Given the description of an element on the screen output the (x, y) to click on. 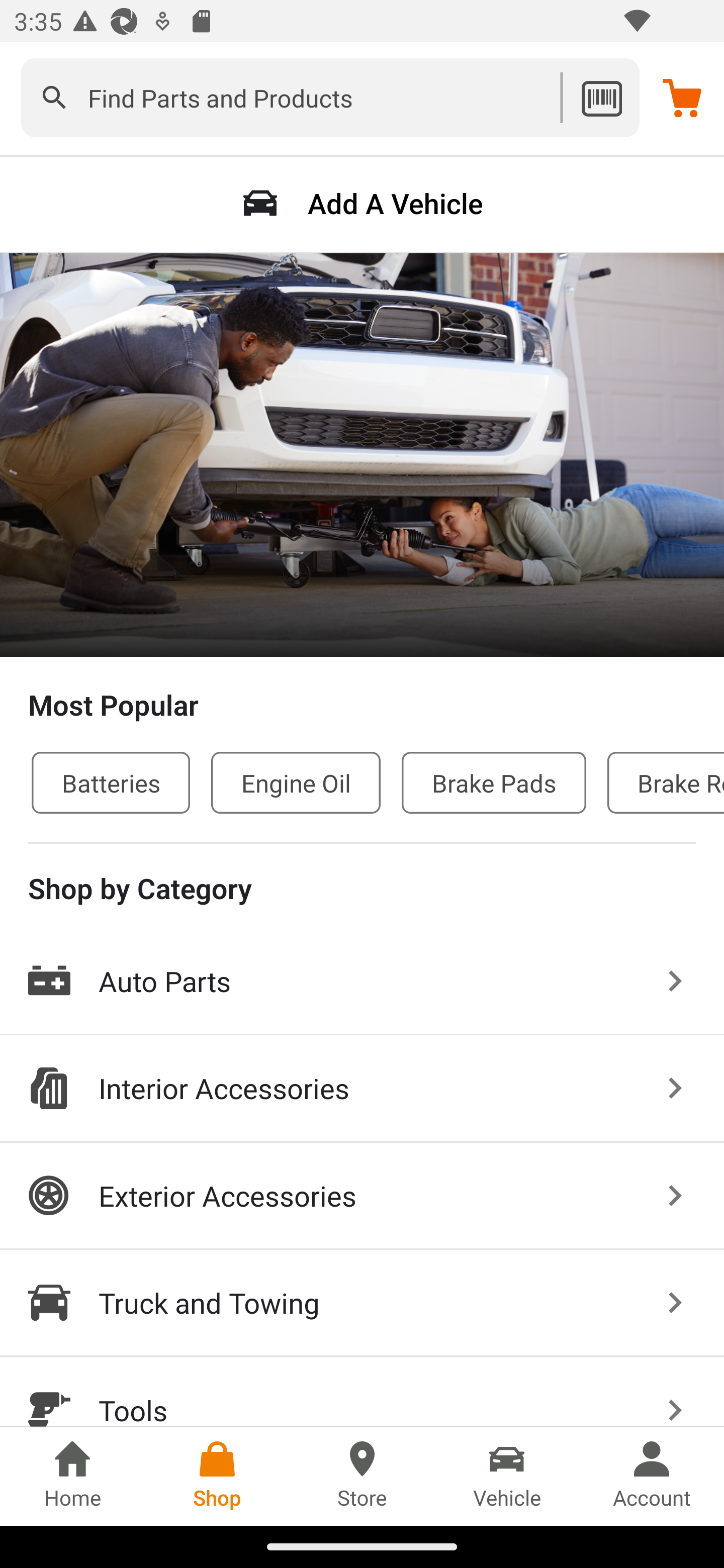
 scan-product-to-search  (601, 97)
 (54, 97)
Cart, no items  (681, 97)
add-vehicle-button  Add A Vehicle (362, 202)
Batteries (110, 782)
Engine Oil (295, 782)
Brake Pads (493, 782)
Brake Rotors (665, 782)
Auto Parts category  Auto Parts  (362, 981)
Truck and Towing category  Truck and Towing  (362, 1303)
Tools category  Tools  (362, 1391)
Home (72, 1475)
Shop (216, 1475)
Store (361, 1475)
Vehicle (506, 1475)
Account (651, 1475)
